Given the description of an element on the screen output the (x, y) to click on. 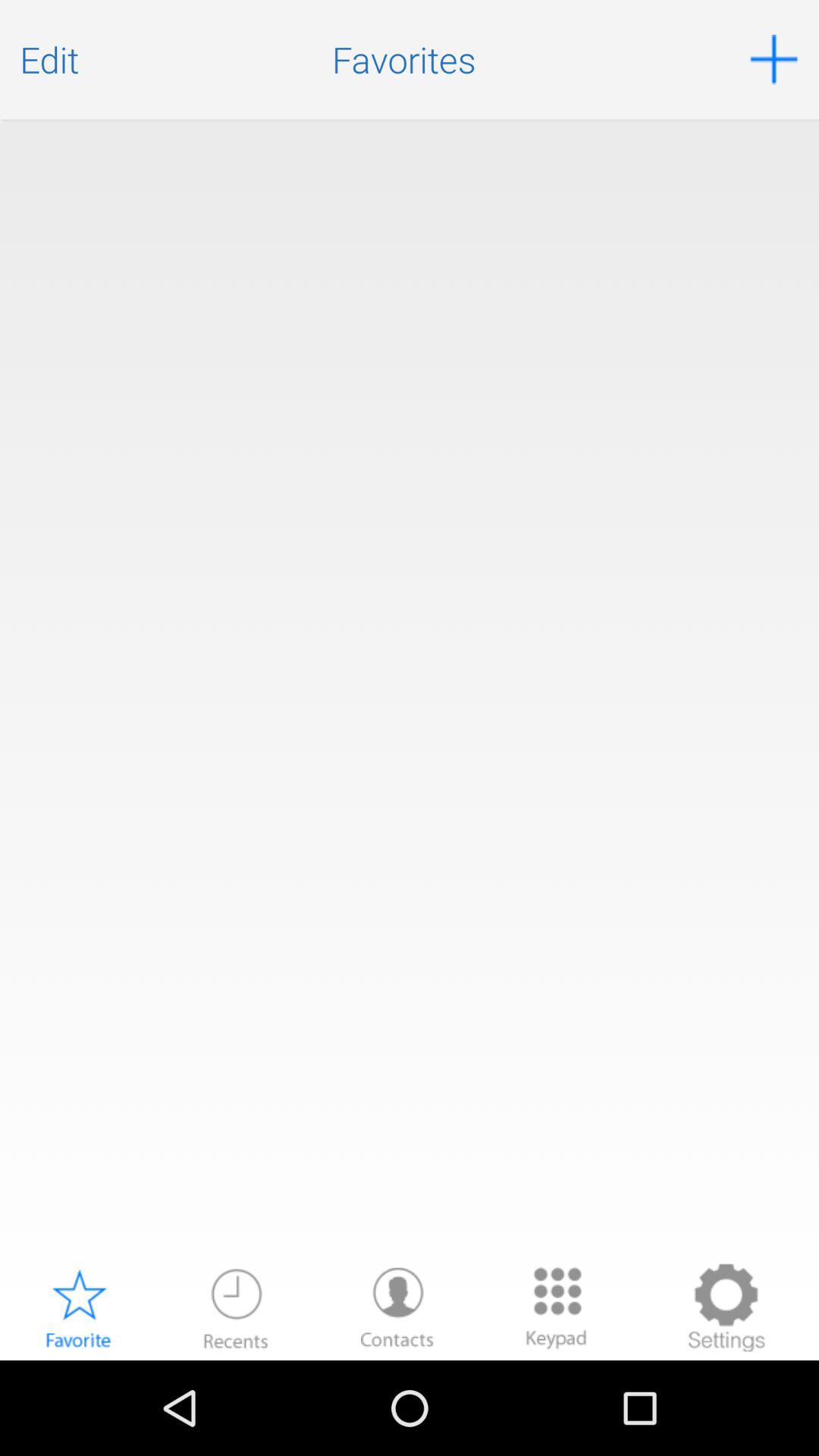
turn off the item at the bottom (397, 1307)
